Given the description of an element on the screen output the (x, y) to click on. 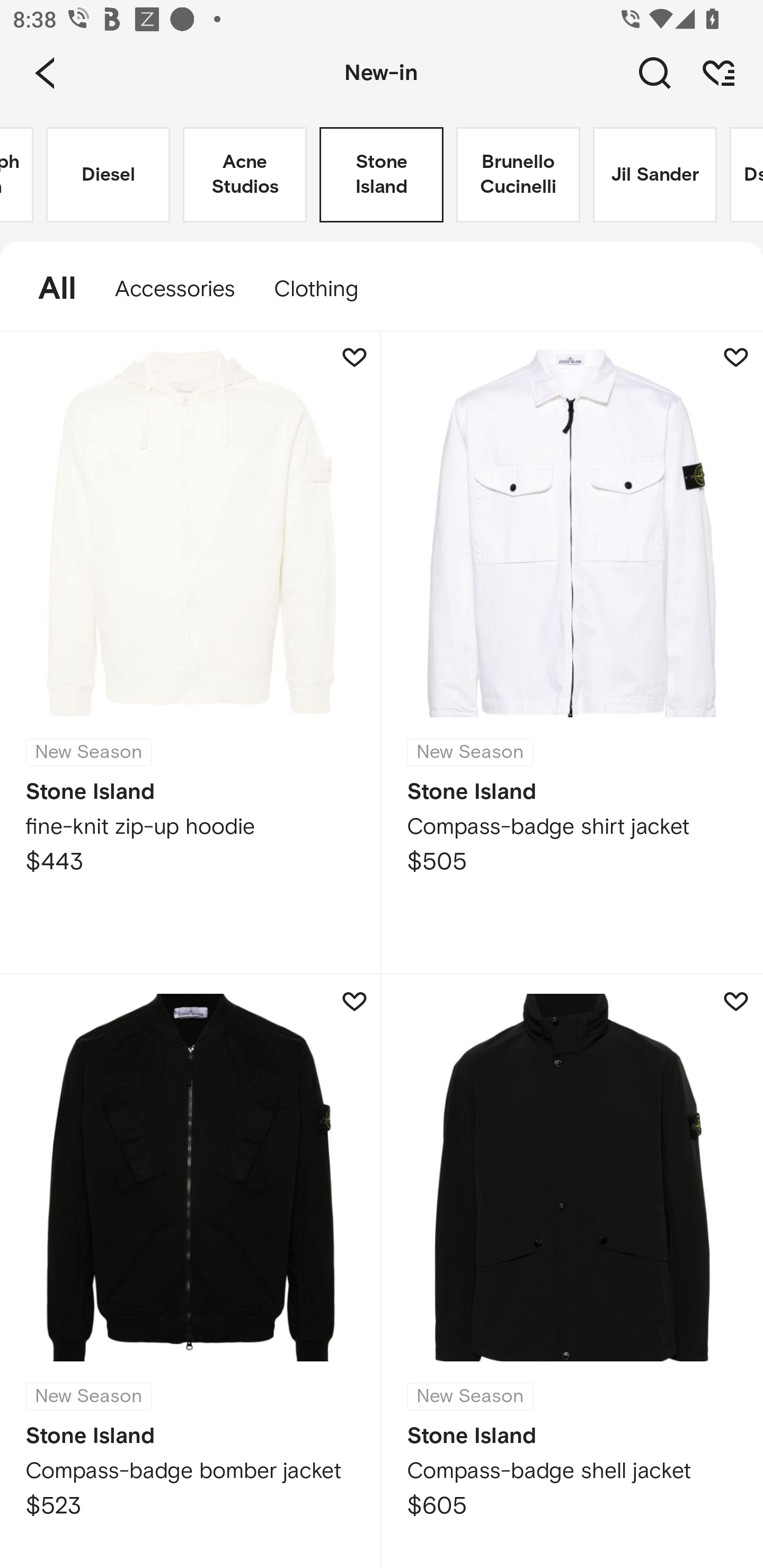
Diesel (107, 174)
Acne Studios (244, 174)
Stone Island (381, 174)
Brunello Cucinelli (517, 174)
Jil Sander (654, 174)
All (47, 288)
Accessories (174, 288)
Clothing (324, 288)
